Given the description of an element on the screen output the (x, y) to click on. 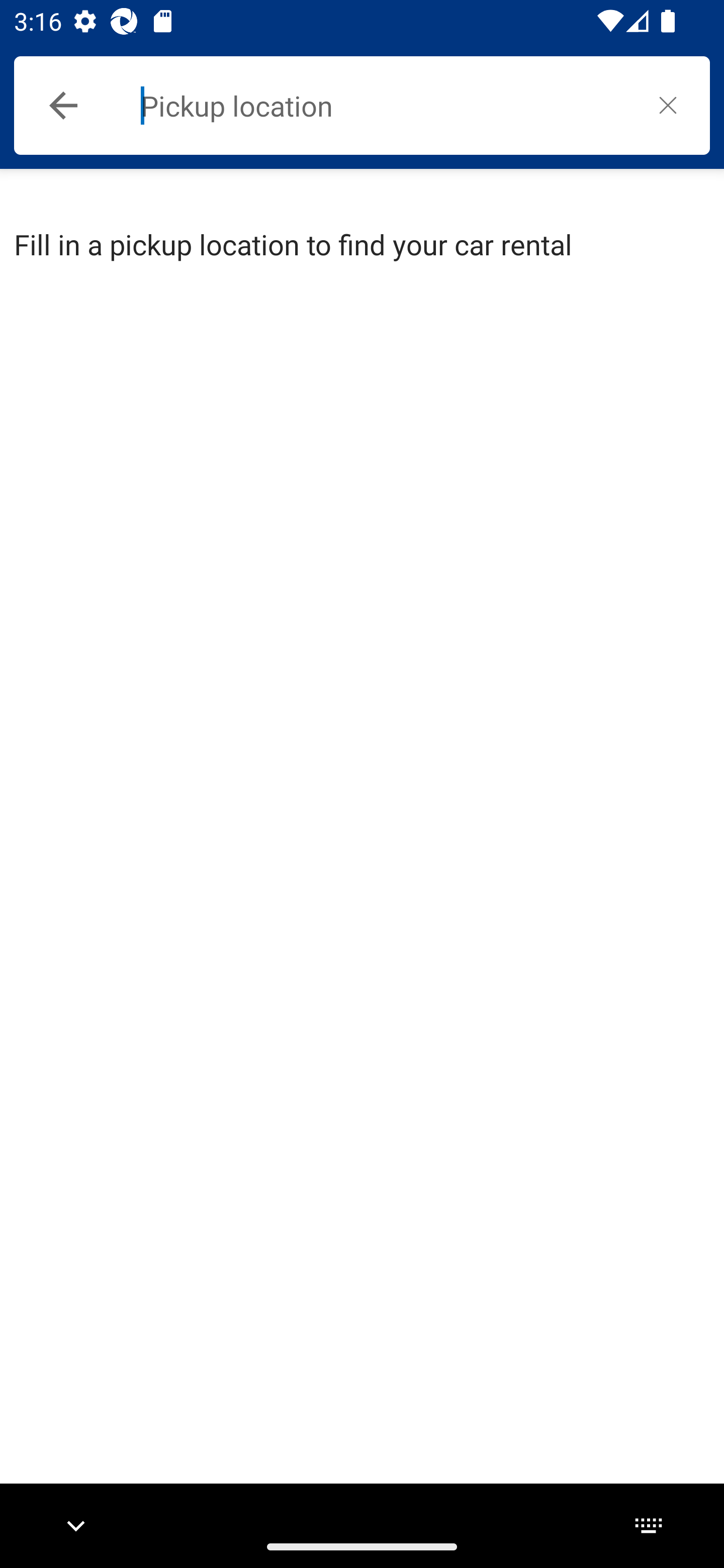
Navigate up (62, 105)
놕 (667, 104)
Pickup location (382, 105)
